Given the description of an element on the screen output the (x, y) to click on. 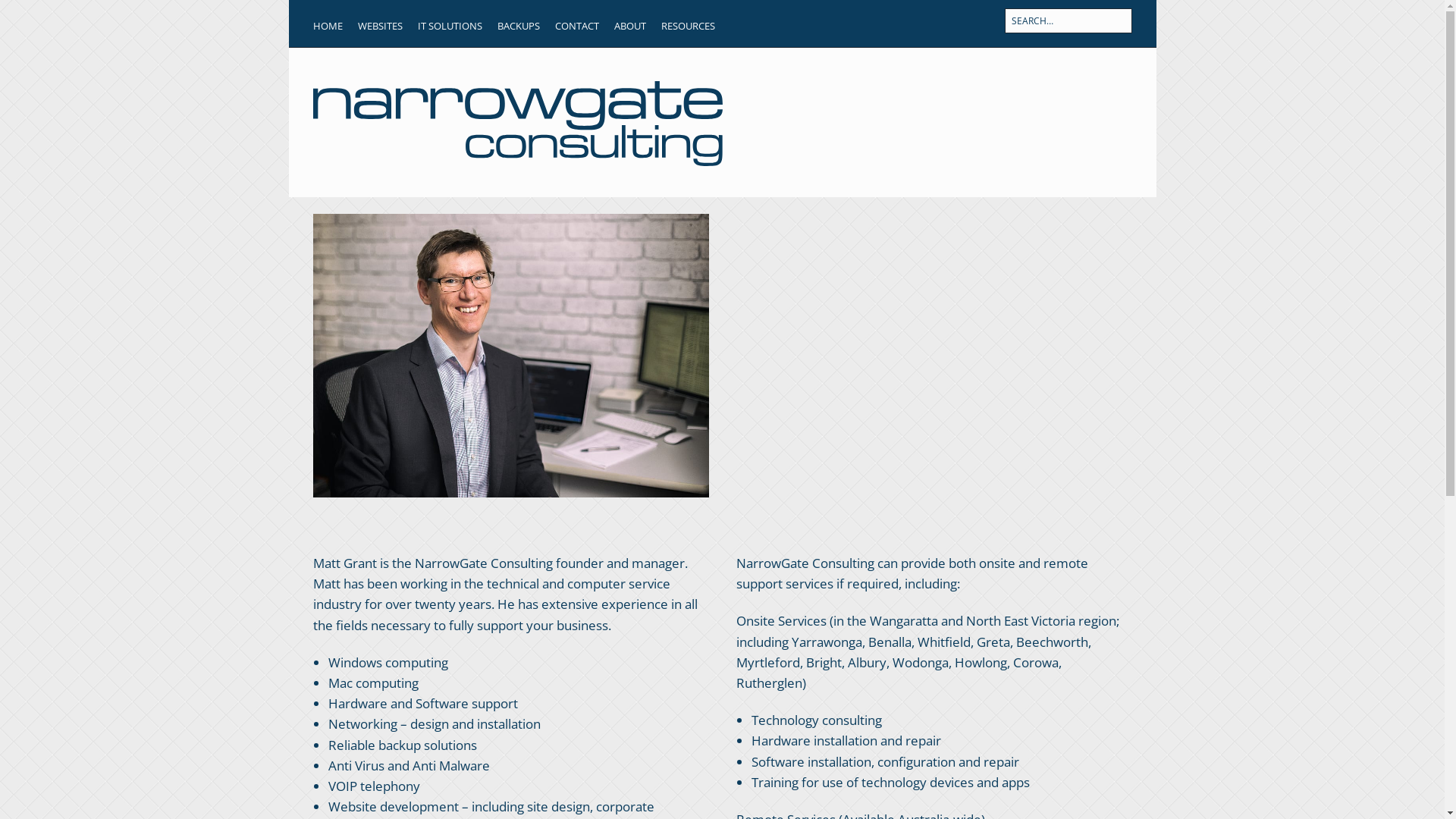
Press Enter to submit your search Element type: hover (1067, 20)
Search Element type: text (50, 20)
CONTACT Element type: text (577, 25)
BACKUPS Element type: text (518, 25)
ABOUT Element type: text (630, 25)
HOME Element type: text (327, 25)
WEBSITES Element type: text (379, 25)
RESOURCES Element type: text (688, 25)
IT SOLUTIONS Element type: text (449, 25)
